Given the description of an element on the screen output the (x, y) to click on. 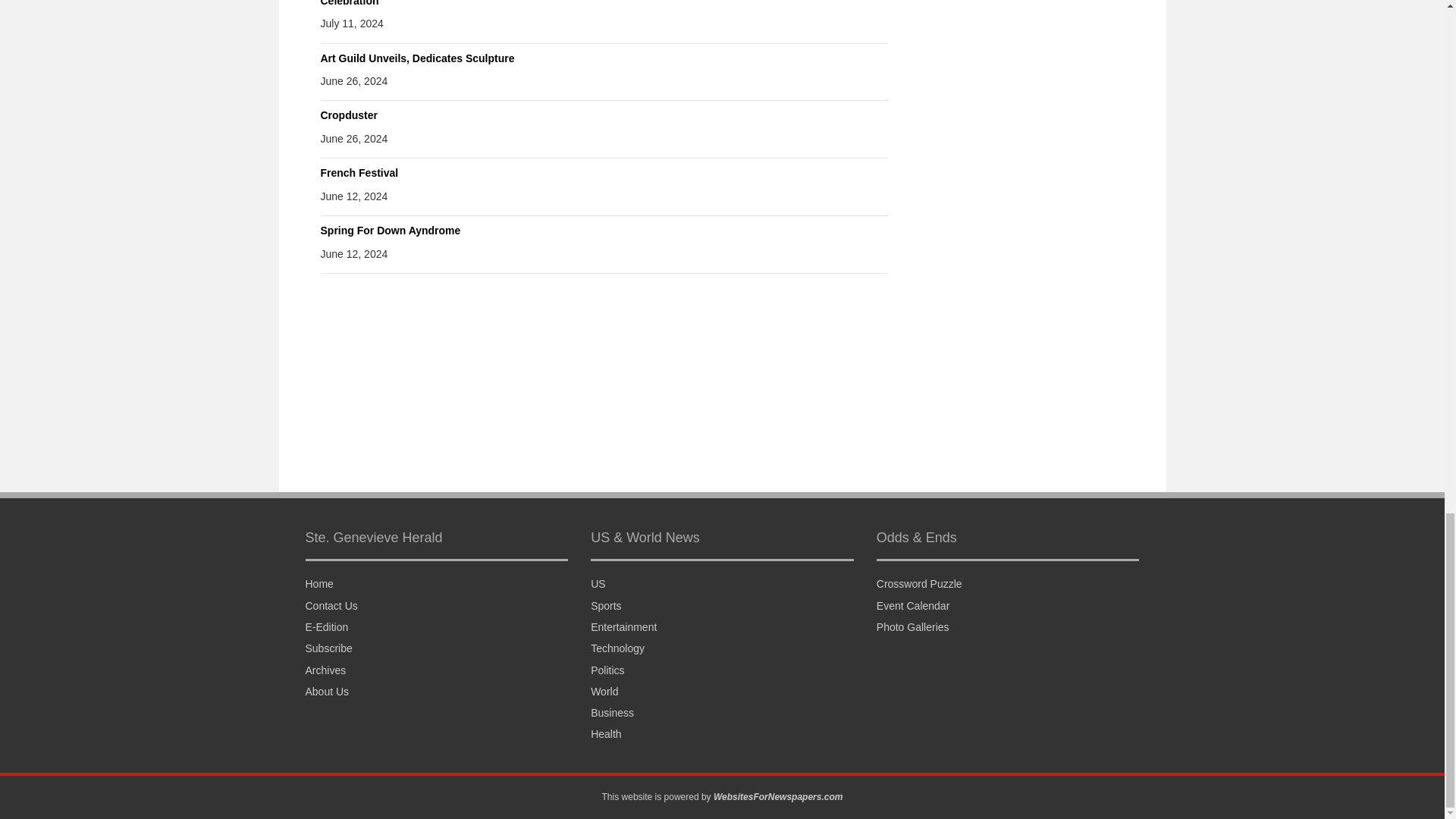
Art Guild Unveils, Dedicates Sculpture (416, 58)
Spring For Down Ayndrome (390, 230)
French Festival (358, 173)
Celebration (349, 3)
Cropduster (348, 114)
